Given the description of an element on the screen output the (x, y) to click on. 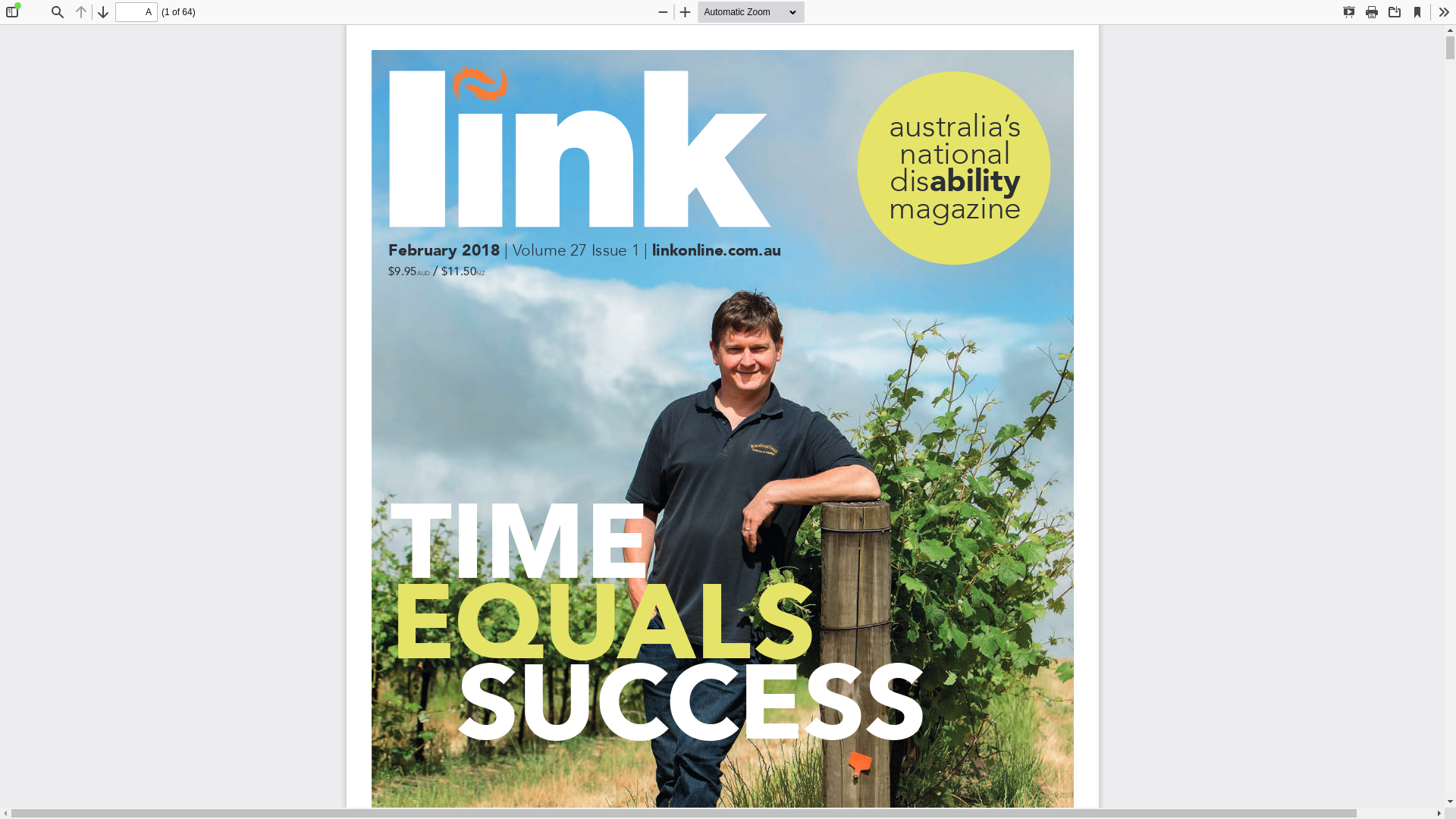
Print Element type: hover (1371, 11)
Switch to Presentation Mode Element type: hover (1348, 11)
Zoom In Element type: hover (685, 11)
Find in Document Element type: hover (57, 11)
Current view (copy or open in new window) Element type: hover (1416, 11)
Next Page Element type: hover (102, 11)
Page Element type: hover (136, 11)
Zoom Out Element type: hover (662, 11)
Download Element type: hover (1394, 11)
Previous Page Element type: hover (80, 11)
Tools Element type: hover (1443, 11)
